Given the description of an element on the screen output the (x, y) to click on. 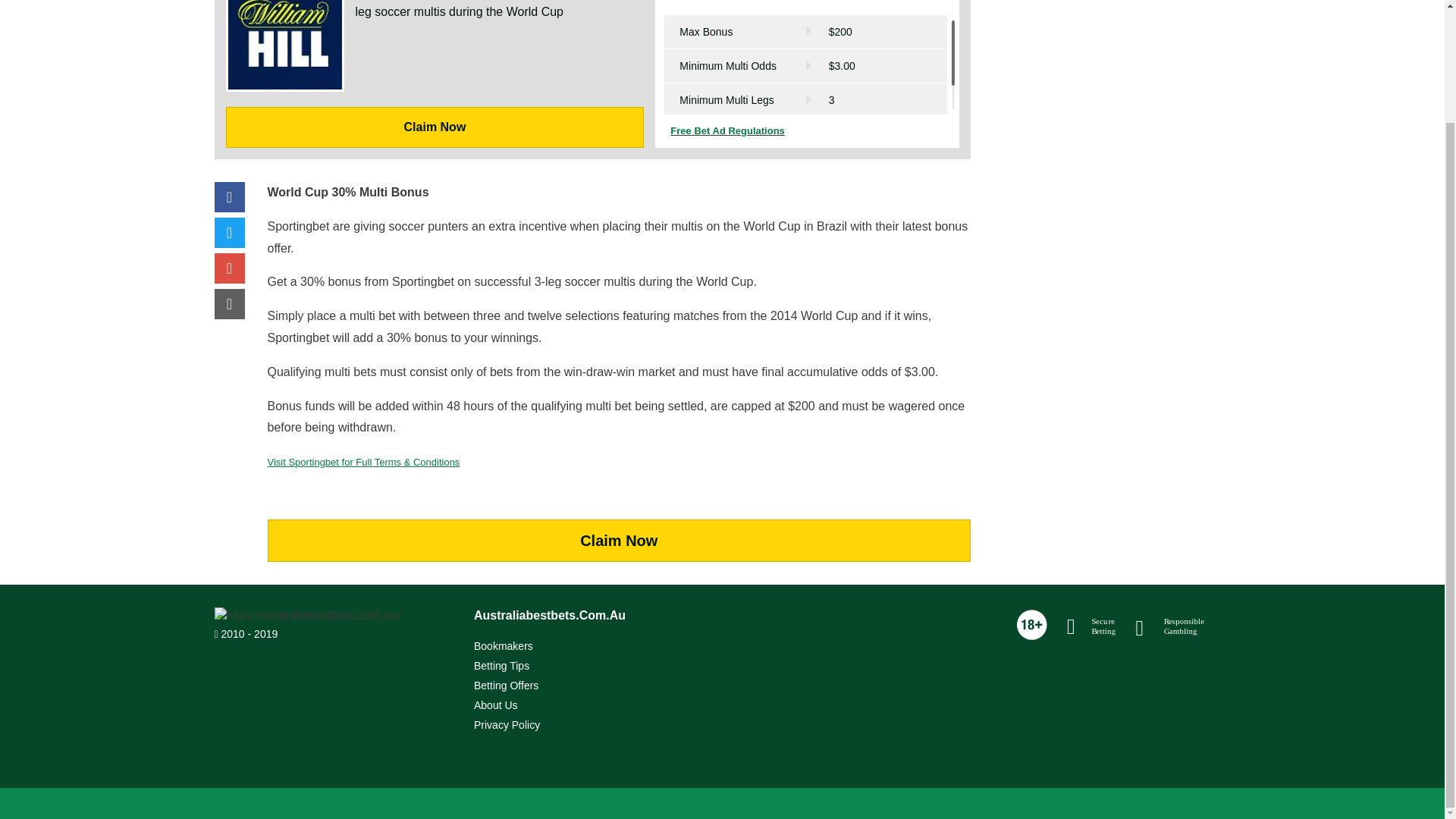
Free Bet Ad Regulations (807, 131)
Betting Tips (501, 665)
Betting Offers (506, 685)
About Us (496, 705)
Bookmakers (503, 645)
Share on Facebook (229, 197)
Privacy Policy (507, 725)
William Hill (435, 74)
Email (229, 305)
Tweet (229, 233)
Claim Now (618, 540)
Australiabestbets.Com.Au (549, 615)
